Given the description of an element on the screen output the (x, y) to click on. 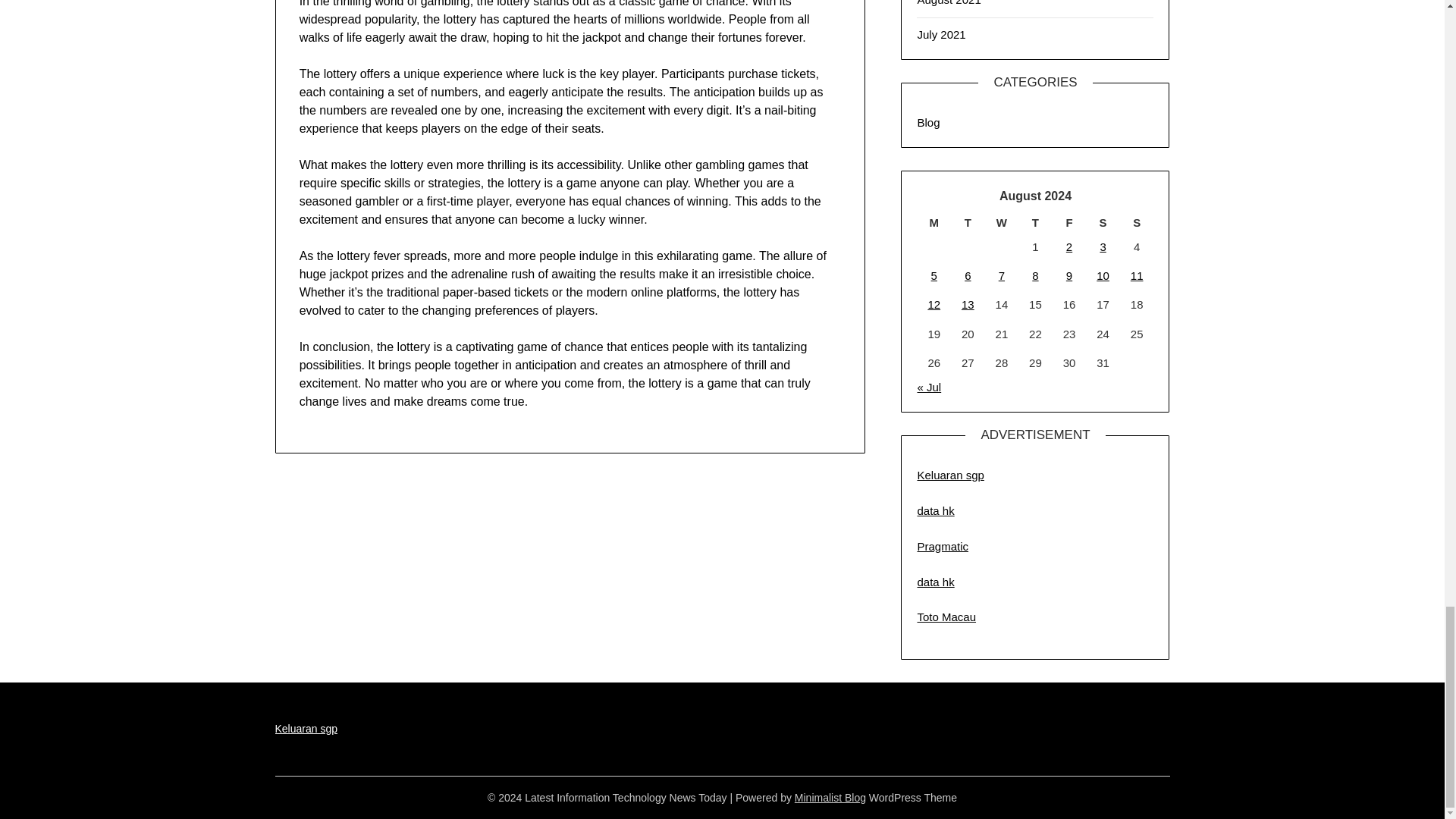
Monday (933, 222)
Friday (1069, 222)
Sunday (1136, 222)
Saturday (1102, 222)
Thursday (1034, 222)
Tuesday (967, 222)
Wednesday (1002, 222)
